Given the description of an element on the screen output the (x, y) to click on. 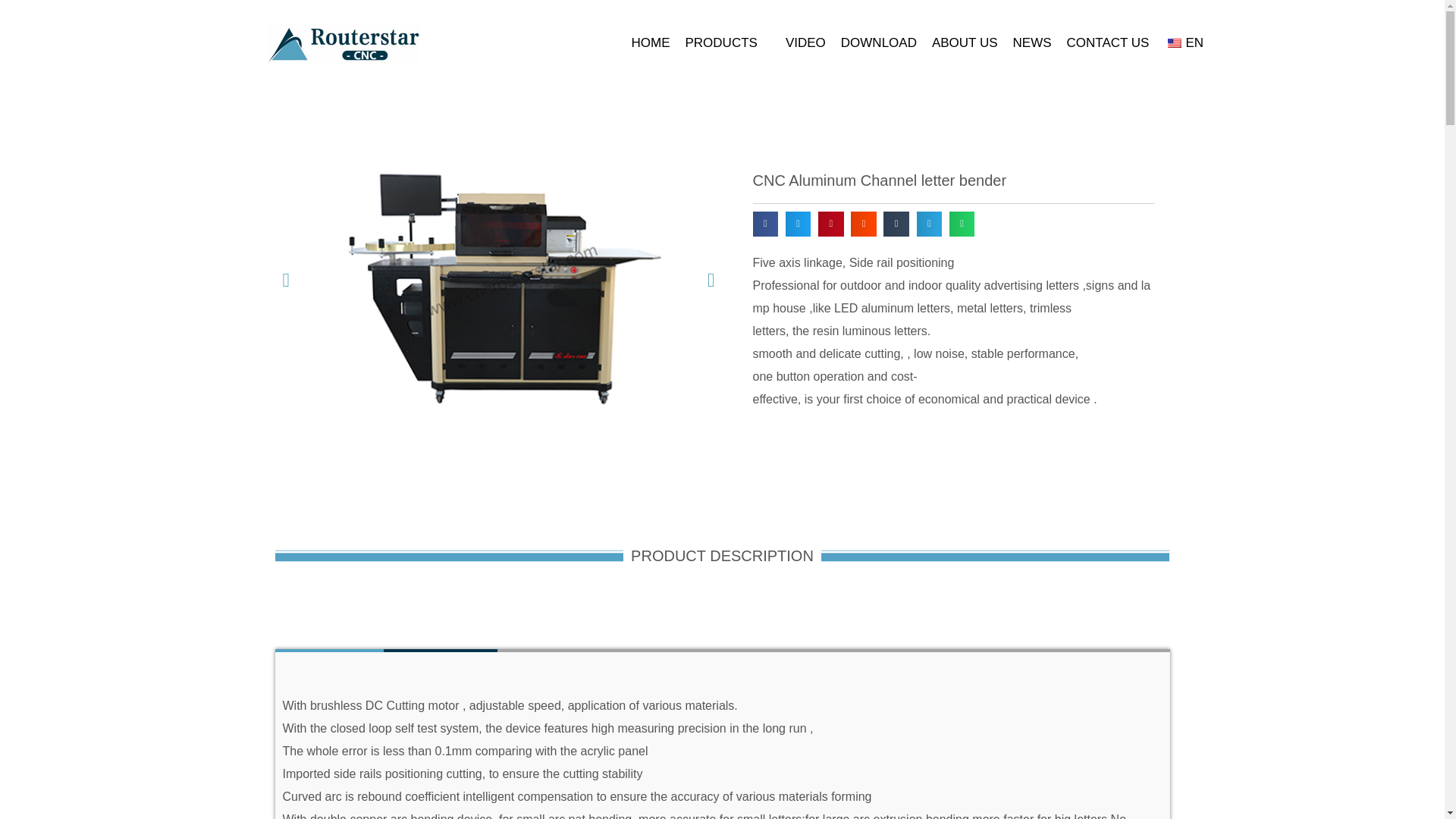
EN (1182, 42)
HOME (649, 42)
NEWS (1032, 42)
CONTACT US (1108, 42)
PRODUCTS (727, 42)
ABOUT US (964, 42)
DOWNLOAD (879, 42)
En (1173, 42)
VIDEO (805, 42)
